Given the description of an element on the screen output the (x, y) to click on. 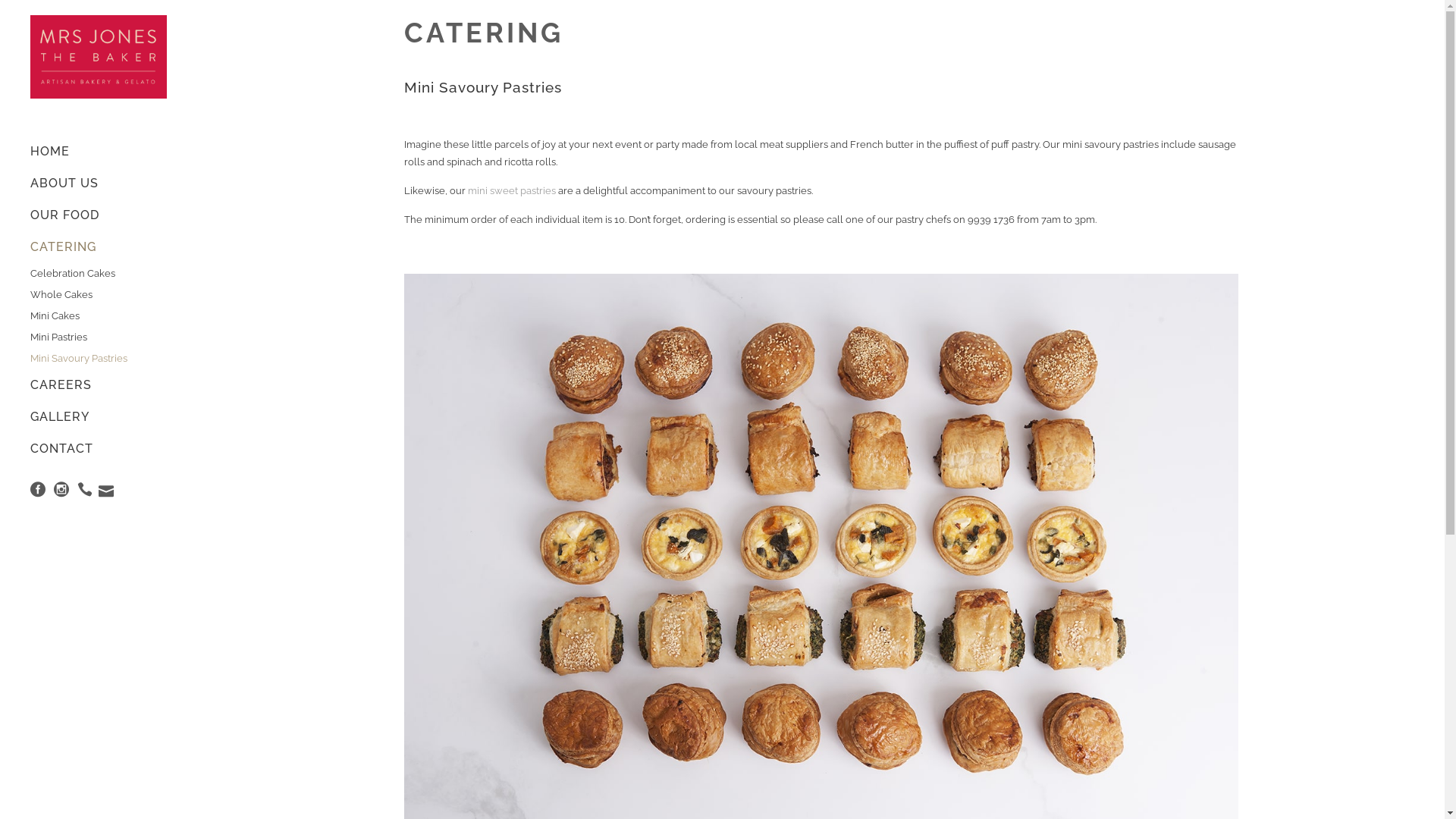
ABOUT US Element type: text (98, 183)
Mini Cakes Element type: text (98, 315)
Mini Savoury Pastries Element type: text (98, 358)
OUR FOOD Element type: text (98, 215)
Celebration Cakes Element type: text (98, 273)
GALLERY Element type: text (98, 417)
CATERING Element type: text (98, 247)
Mini Pastries Element type: text (98, 337)
CAREERS Element type: text (98, 385)
HOME Element type: text (98, 151)
mini sweet pastries Element type: text (511, 190)
CONTACT Element type: text (98, 448)
Whole Cakes Element type: text (98, 294)
